Given the description of an element on the screen output the (x, y) to click on. 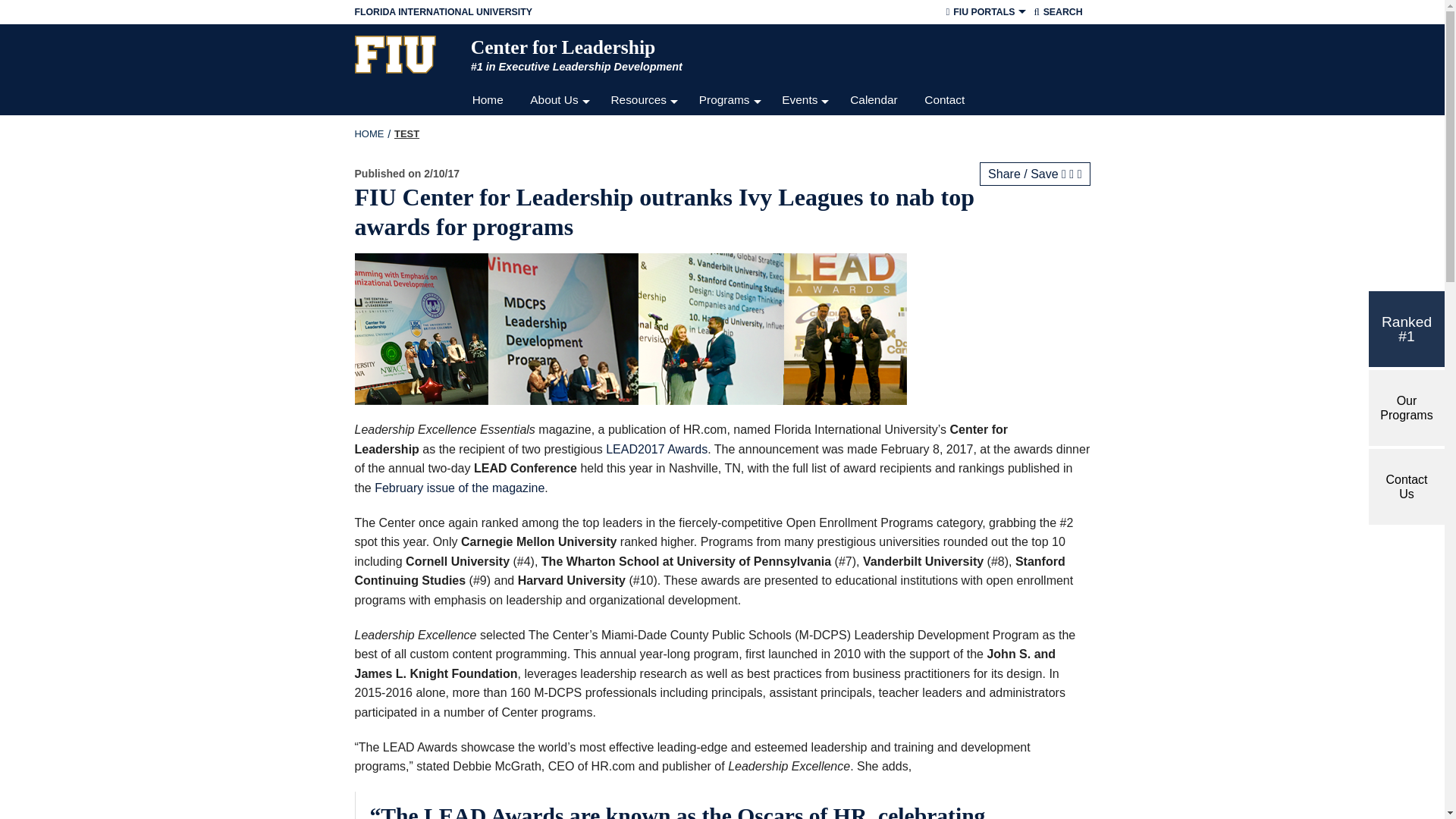
Home (492, 100)
Virtual Resources (644, 130)
News (644, 221)
The Women Leaders Program (730, 281)
Faculty Fellows (561, 191)
Custom Leadership Programs (730, 160)
The High-Impact Leadership Program (730, 312)
Programs Calendar (730, 130)
FLORIDA INTERNATIONAL UNIVERSITY (601, 12)
Center for Leadership (756, 47)
FIU Canvas (984, 69)
Blog (644, 251)
About Us (561, 100)
Staff (561, 160)
MyFIU (984, 39)
